Given the description of an element on the screen output the (x, y) to click on. 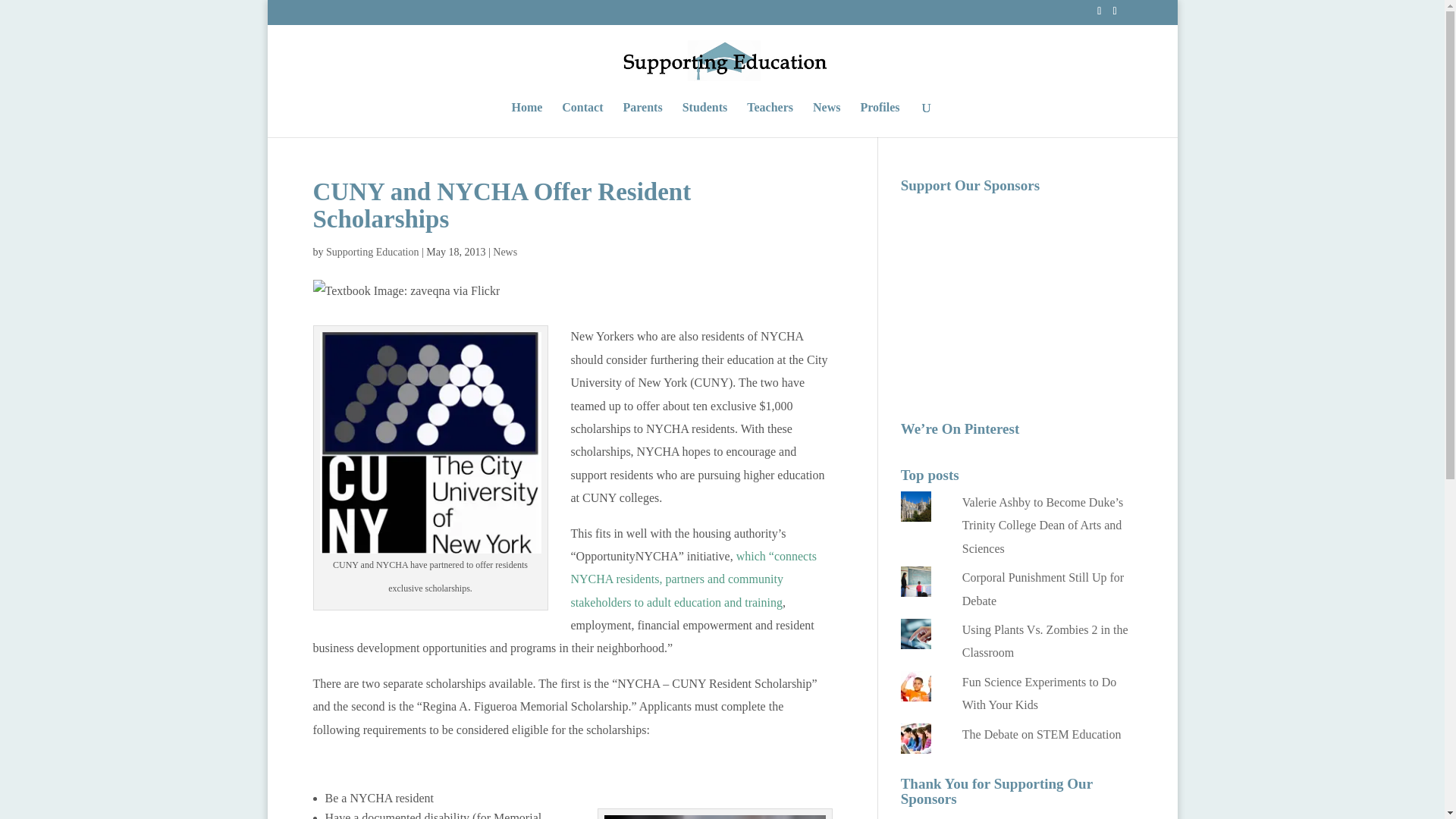
Contact (582, 119)
Home (526, 119)
Students (705, 119)
Using Plants Vs. Zombies 2 in the Classroom (1045, 641)
The Debate on STEM Education (1041, 734)
Profiles (879, 119)
Supporting Education (372, 251)
Posts by Supporting Education (372, 251)
Corporal Punishment Still Up for Debate (1043, 588)
Using Plants Vs. Zombies 2 in the Classroom (1045, 641)
News (504, 251)
Fun Science Experiments to Do With Your Kids (1039, 693)
Parents (642, 119)
Corporal Punishment Still Up for Debate (1043, 588)
The Debate on STEM Education (1041, 734)
